Given the description of an element on the screen output the (x, y) to click on. 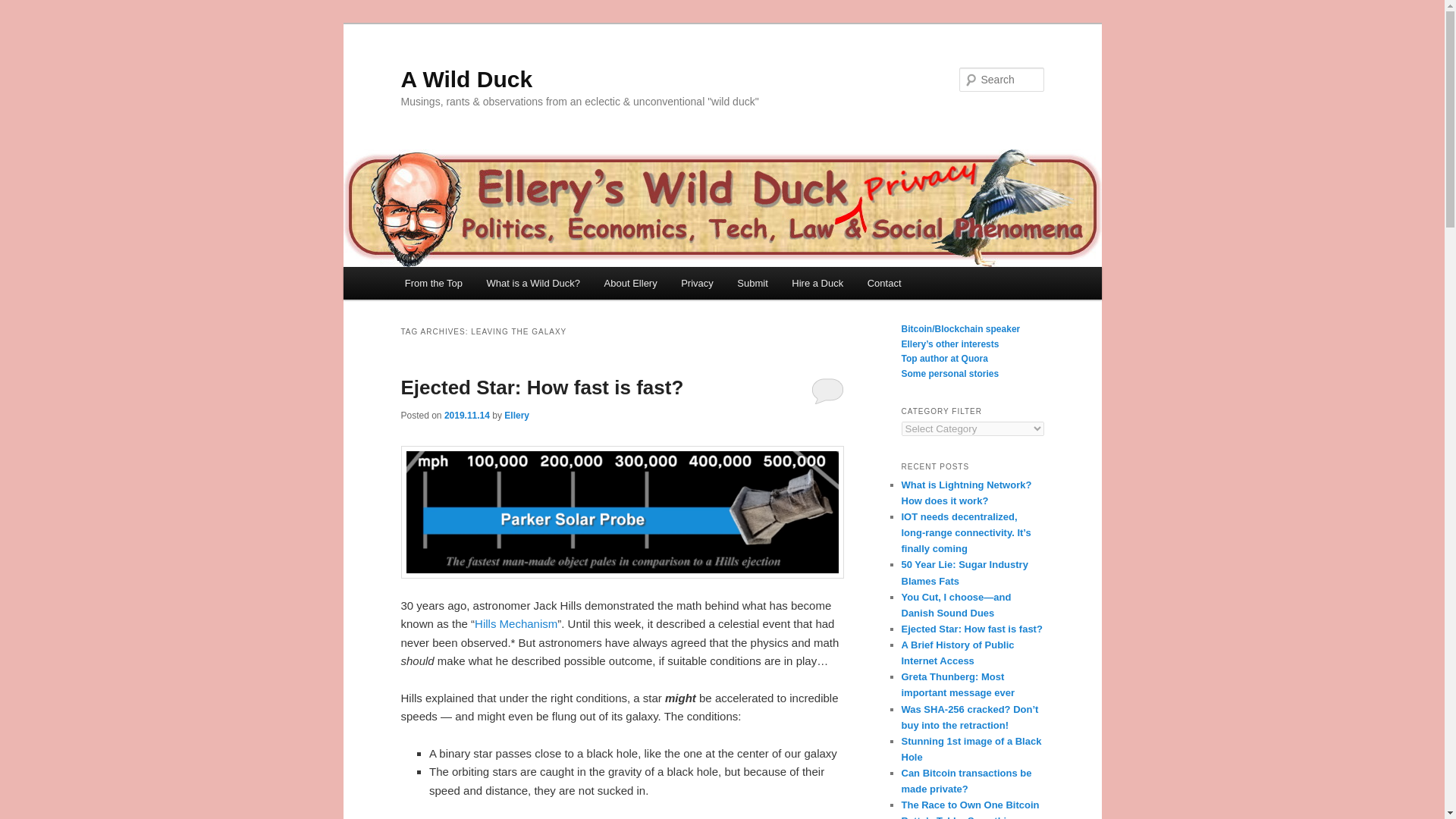
Hire a Duck (818, 282)
Submit (752, 282)
Search (24, 8)
About Ellery (630, 282)
View all posts by Ellery (516, 415)
Ellery (516, 415)
Some personal stories (949, 373)
Ejected Star: How fast is fast? (541, 386)
Contact (884, 282)
Hills Mechanism (515, 623)
What is a Wild Duck? (533, 282)
17:14 (466, 415)
2019.11.14 (466, 415)
Privacy (696, 282)
